Given the description of an element on the screen output the (x, y) to click on. 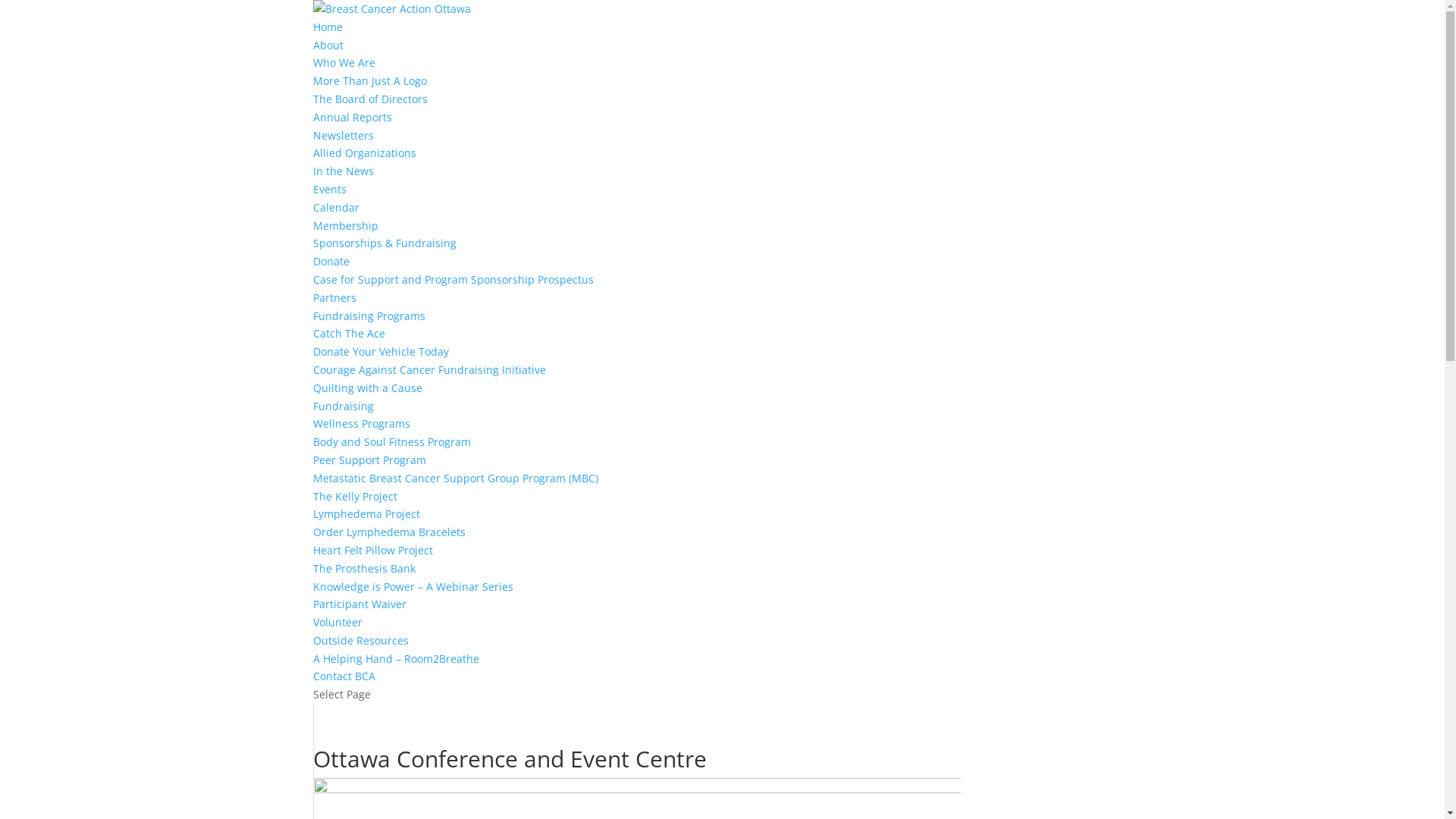
The Prosthesis Bank Element type: text (363, 568)
Calendar Element type: text (335, 207)
Volunteer Element type: text (336, 622)
Metastatic Breast Cancer Support Group Program (MBC) Element type: text (454, 477)
Catch The Ace Element type: text (348, 333)
More Than Just A Logo Element type: text (369, 80)
The Board of Directors Element type: text (369, 98)
Wellness Programs Element type: text (360, 423)
Peer Support Program Element type: text (368, 459)
Heart Felt Pillow Project Element type: text (372, 549)
In the News Element type: text (342, 170)
The Kelly Project Element type: text (354, 496)
Fundraising Programs Element type: text (368, 315)
Outside Resources Element type: text (359, 640)
Partners Element type: text (333, 297)
Who We Are Element type: text (343, 62)
Allied Organizations Element type: text (363, 152)
Courage Against Cancer Fundraising Initiative Element type: text (428, 369)
Membership Element type: text (344, 225)
Donate Element type: text (330, 261)
Participant Waiver Element type: text (358, 603)
Order Lymphedema Bracelets Element type: text (388, 531)
Body and Soul Fitness Program Element type: text (391, 441)
Quilting with a Cause Element type: text (366, 387)
Sponsorships & Fundraising Element type: text (383, 242)
Annual Reports Element type: text (351, 116)
Lymphedema Project Element type: text (365, 513)
Fundraising Element type: text (342, 405)
Events Element type: text (328, 189)
About Element type: text (327, 44)
Donate Your Vehicle Today Element type: text (380, 351)
Case for Support and Program Sponsorship Prospectus Element type: text (452, 279)
Contact BCA Element type: text (343, 675)
Newsletters Element type: text (342, 135)
Home Element type: text (327, 26)
